Given the description of an element on the screen output the (x, y) to click on. 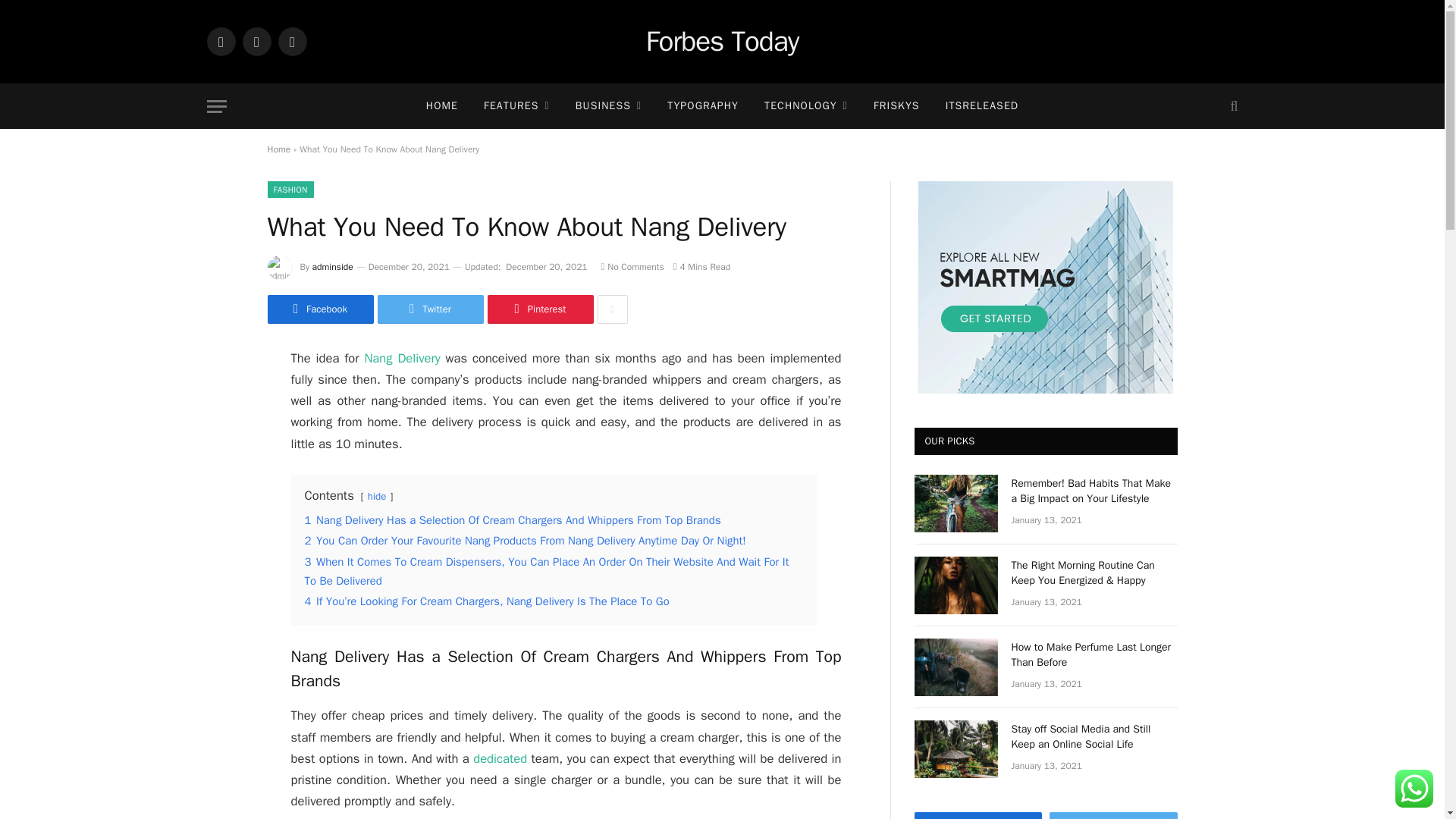
FEATURES (516, 105)
TYPOGRAPHY (702, 105)
Forbes Today (722, 41)
Forbes Today (722, 41)
BUSINESS (608, 105)
Facebook (220, 41)
TECHNOLOGY (805, 105)
HOME (441, 105)
Instagram (291, 41)
